Given the description of an element on the screen output the (x, y) to click on. 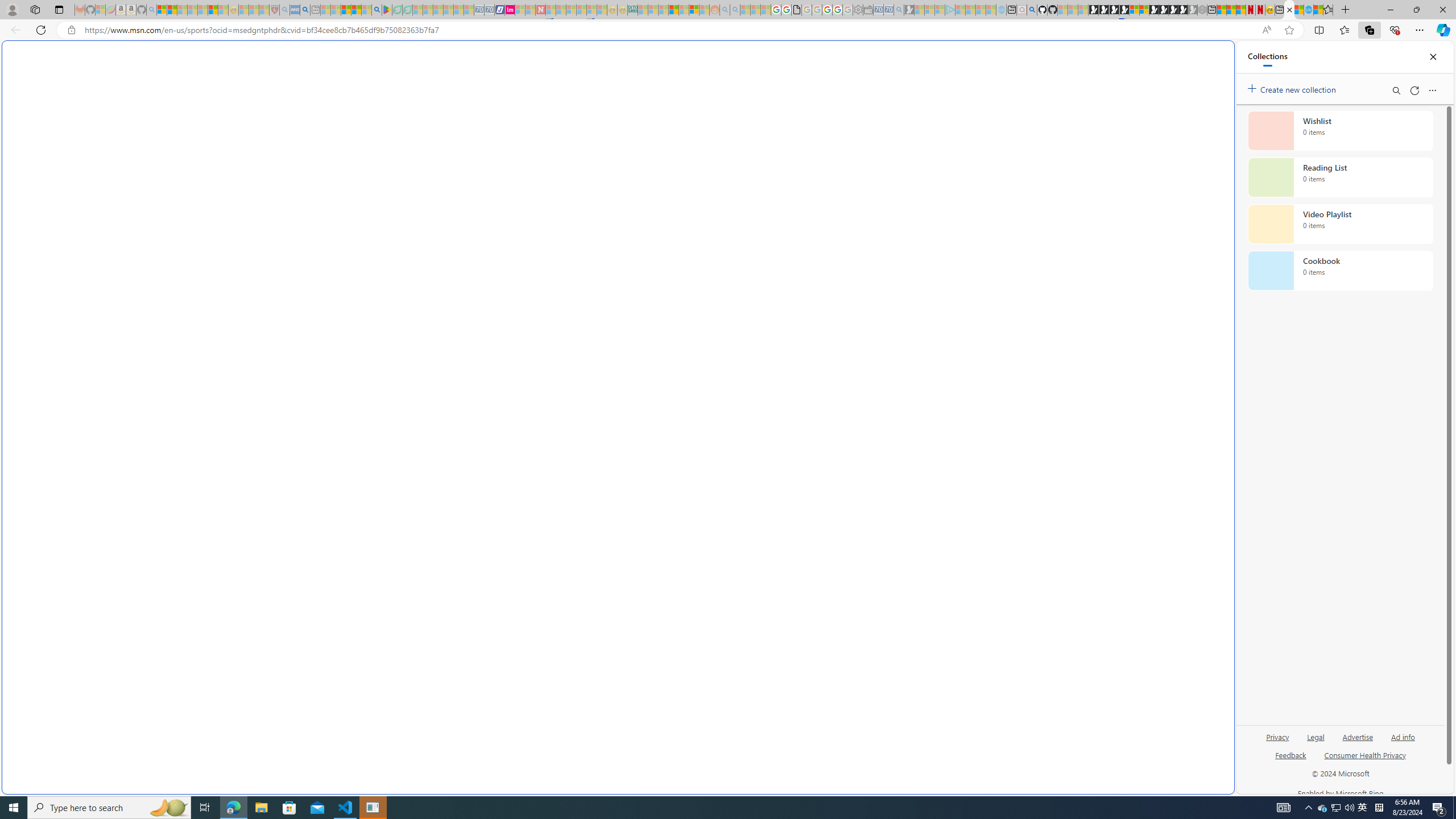
Pets - MSN (356, 9)
